Given the description of an element on the screen output the (x, y) to click on. 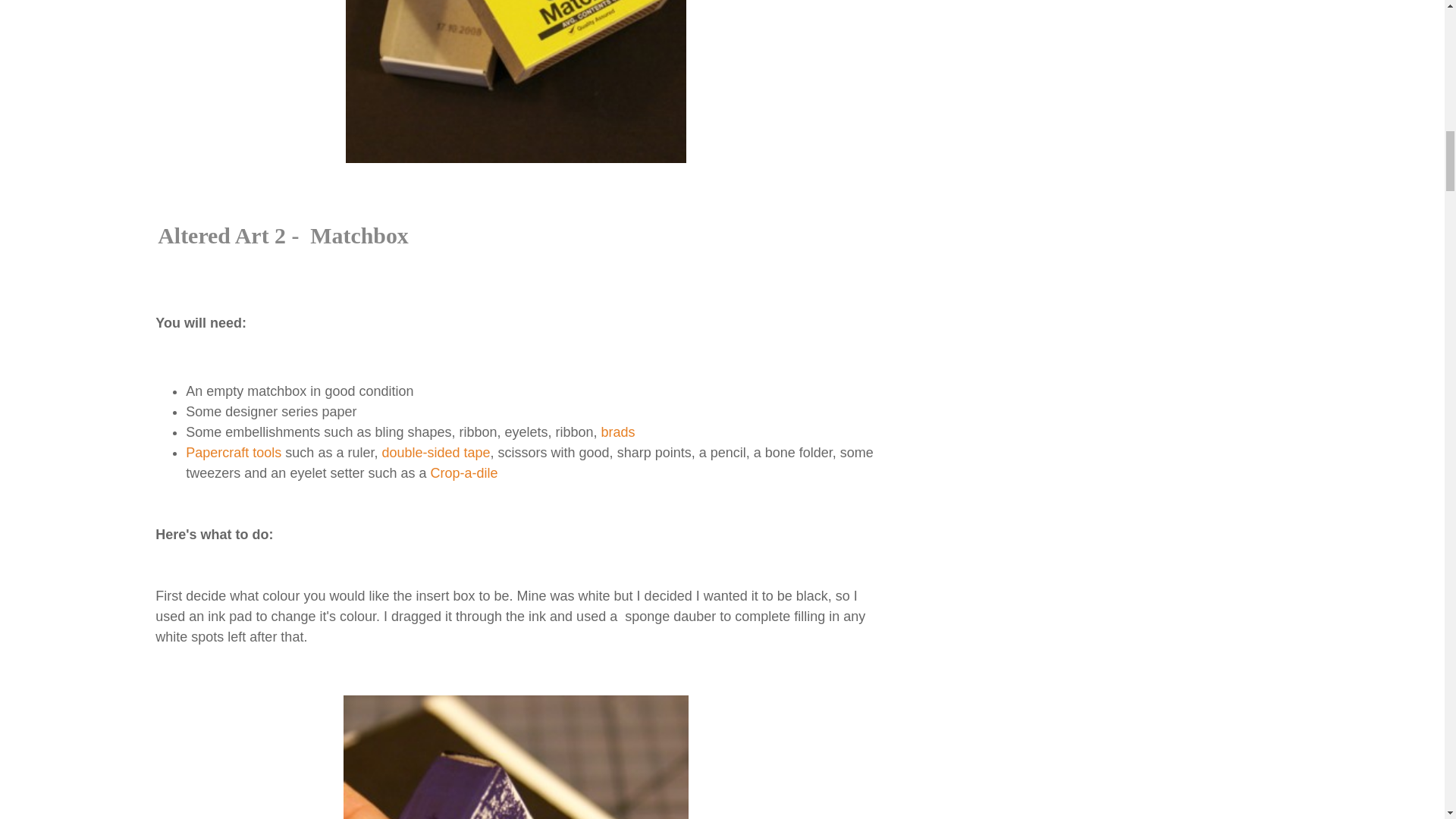
Crop-a-dile (463, 473)
Papercraft tools (233, 452)
double-sided tape (435, 452)
brads (617, 432)
